Given the description of an element on the screen output the (x, y) to click on. 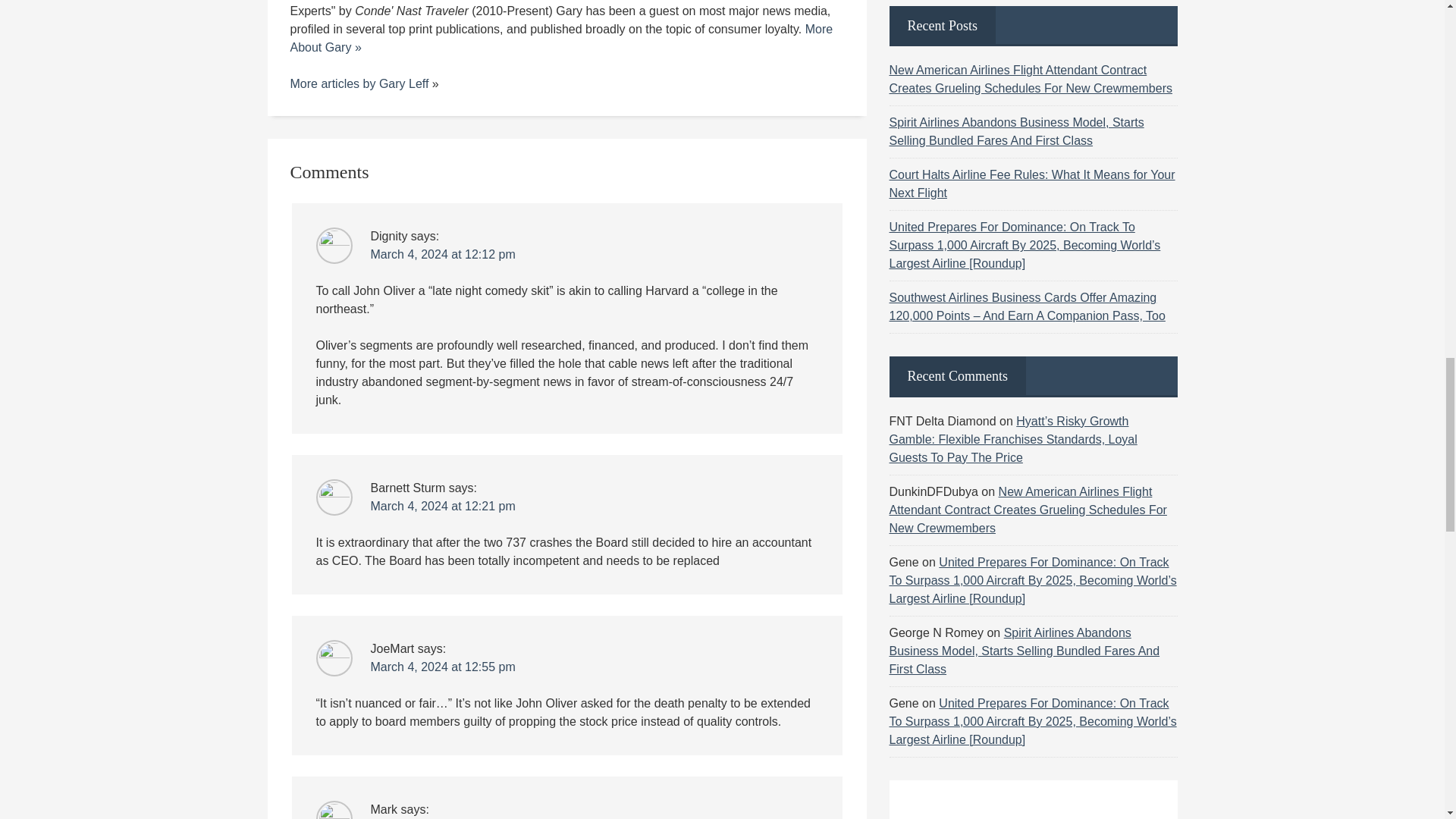
March 4, 2024 at 12:21 pm (442, 505)
More articles by (333, 83)
March 4, 2024 at 12:55 pm (442, 666)
March 4, 2024 at 12:12 pm (442, 254)
Gary Leff (403, 83)
